Given the description of an element on the screen output the (x, y) to click on. 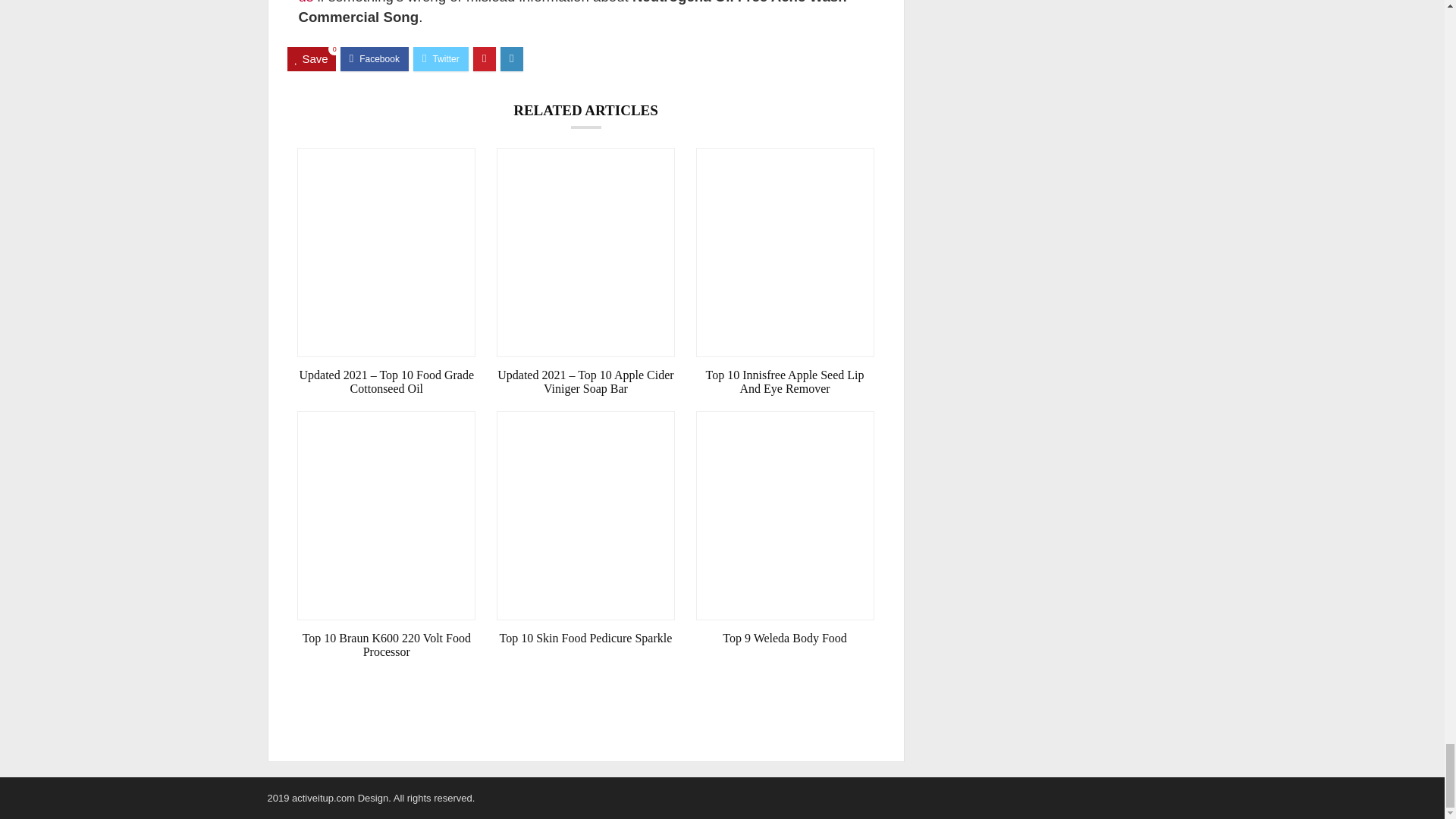
Top 10 Innisfree Apple Seed Lip And Eye Remover (785, 381)
Top 10 Skin Food Pedicure Sparkle (585, 638)
Top 9 Weleda Body Food (785, 638)
Top 10 Braun K600 220 Volt Food Processor (386, 645)
